Given the description of an element on the screen output the (x, y) to click on. 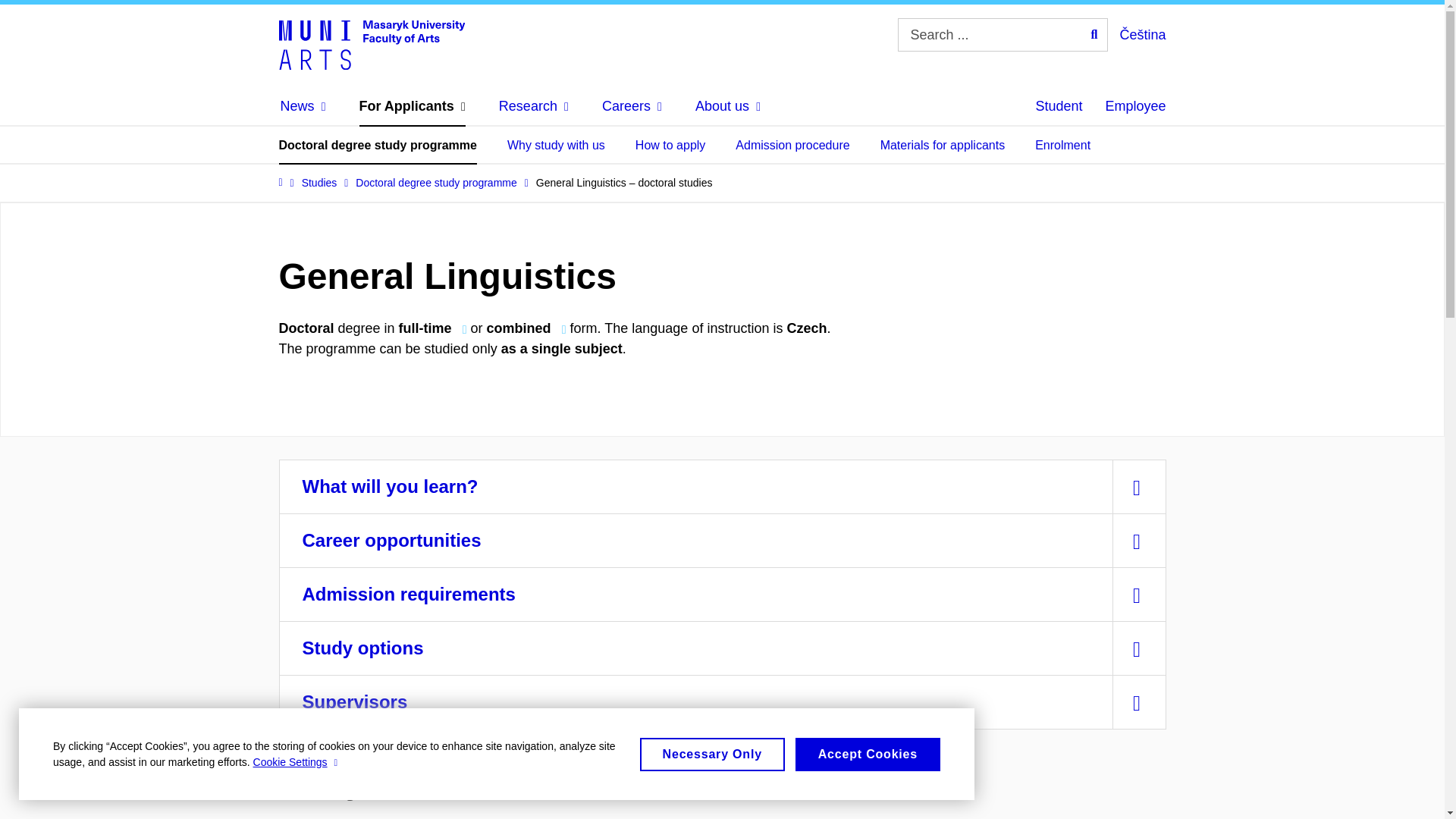
Careers (632, 105)
News (303, 105)
Masaryk University Faculty of Arts (371, 43)
Homepage site (371, 43)
Masaryk University Faculty of Arts (371, 43)
Research (534, 105)
For Applicants (412, 105)
About us (727, 105)
